Given the description of an element on the screen output the (x, y) to click on. 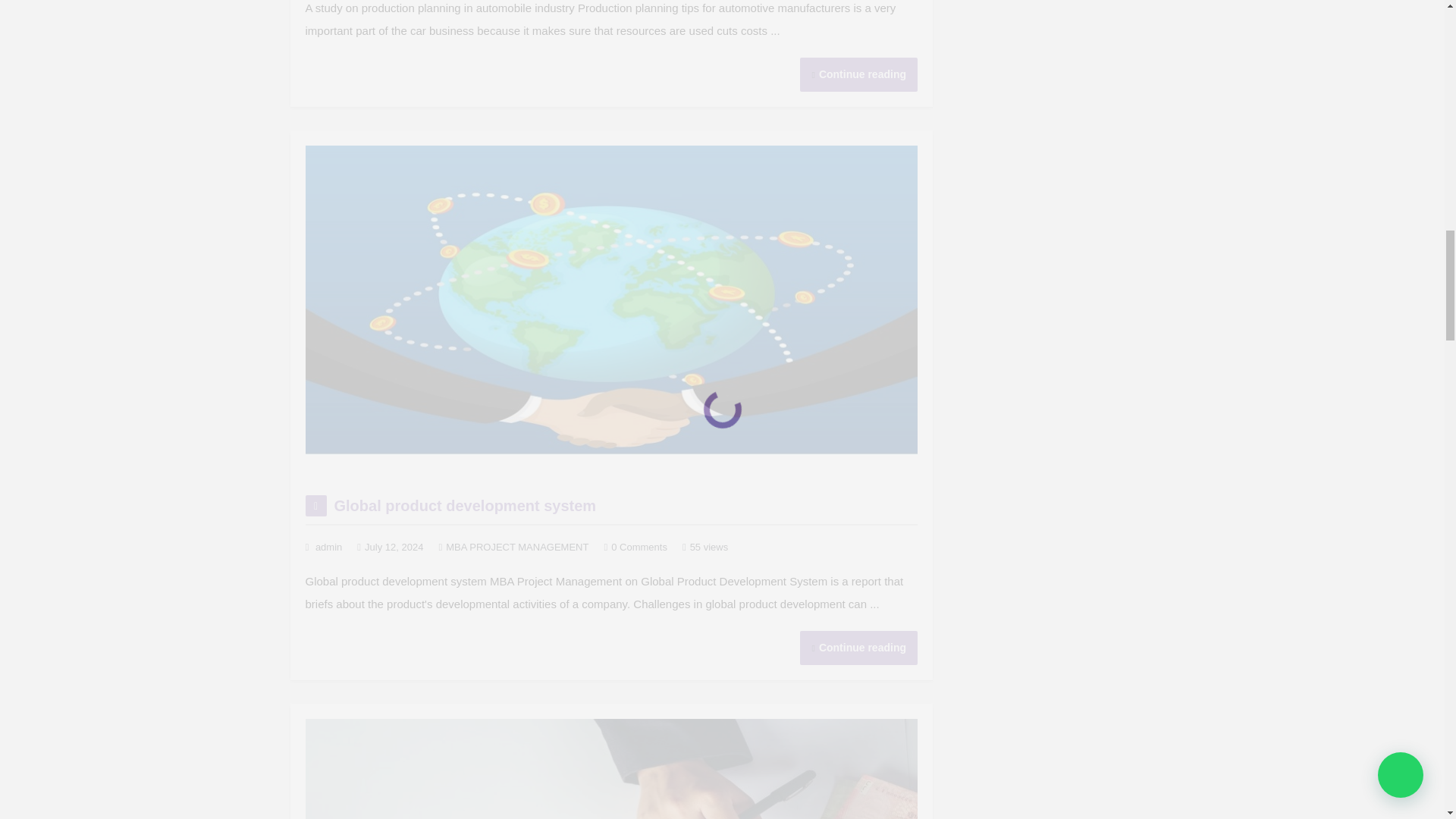
A study on production planning in automobile industry (858, 74)
Global product development system (464, 505)
admin (328, 546)
